Given the description of an element on the screen output the (x, y) to click on. 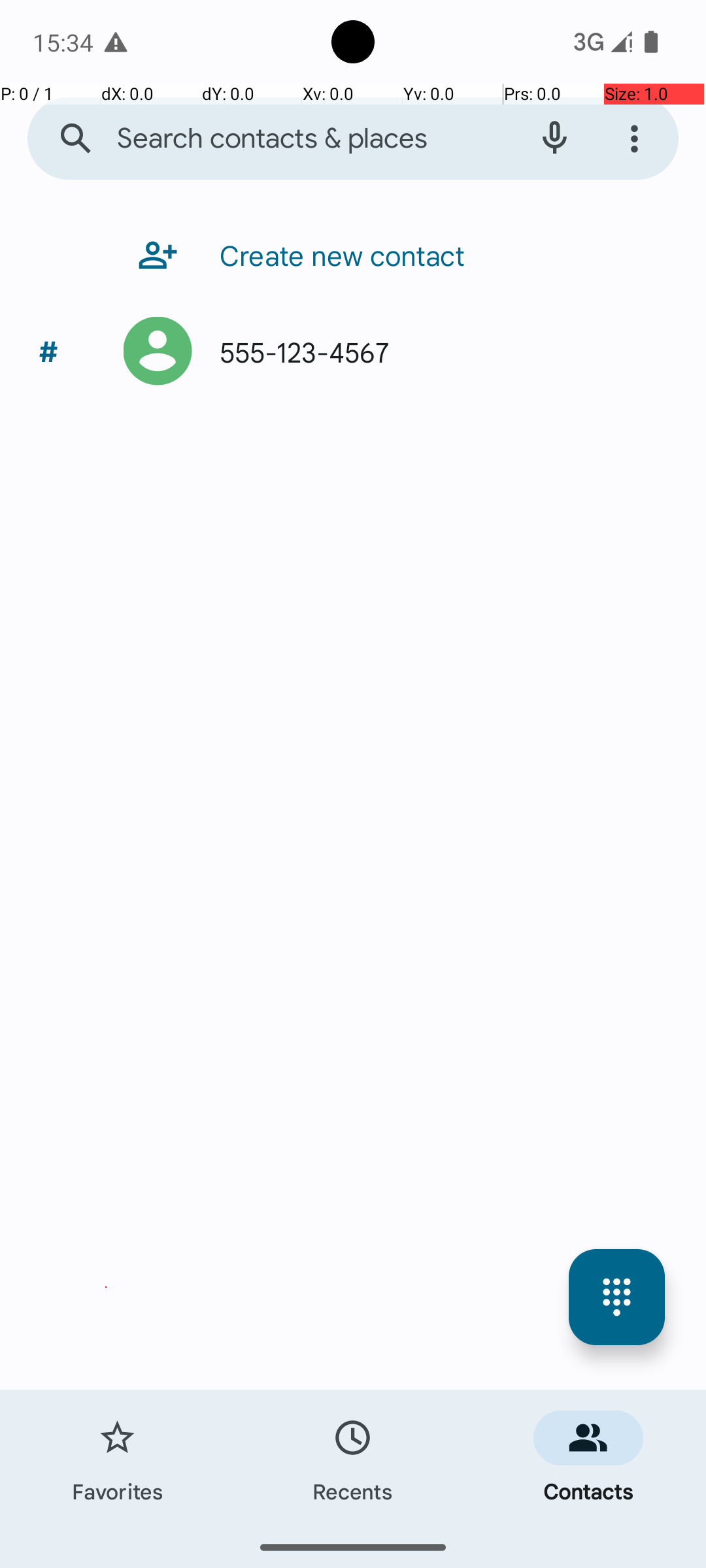
key pad Element type: android.widget.ImageButton (616, 1297)
Favorites Element type: android.widget.FrameLayout (117, 1457)
Recents Element type: android.widget.FrameLayout (352, 1457)
Start voice search Element type: android.widget.Button (554, 138)
Create new contact Element type: android.widget.TextView (335, 254)
# Element type: android.widget.TextView (48, 351)
Quick contact for 555-123-4567 Element type: android.widget.QuickContactBadge (157, 350)
‪555-123-4567‬ Element type: android.widget.TextView (297, 350)
